Given the description of an element on the screen output the (x, y) to click on. 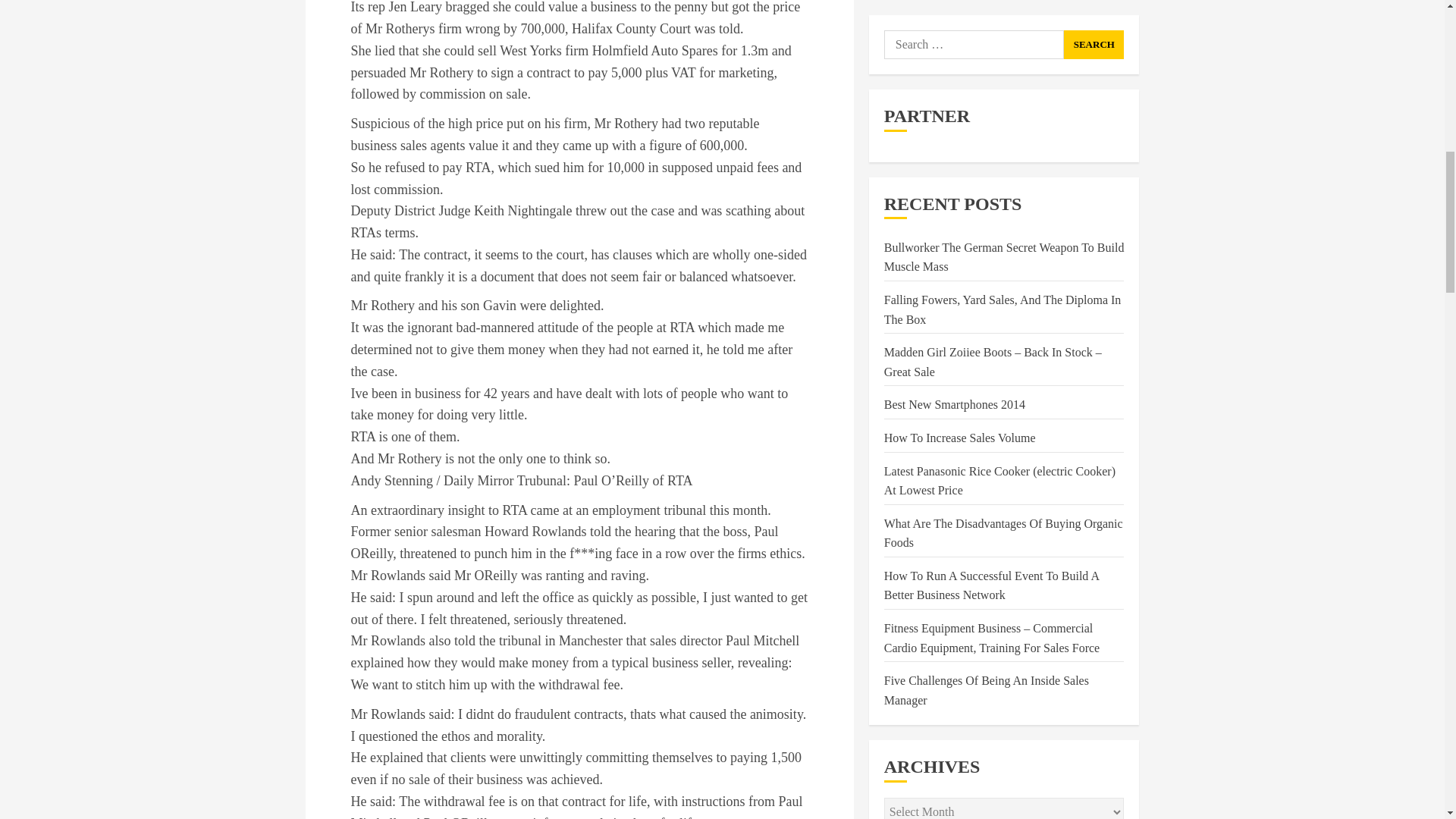
ATV (1025, 525)
Album Slap (921, 493)
Five Challenges Of Being An Inside Sales Manager (986, 101)
Uncategorized (919, 379)
Area Sales Manager (940, 525)
APRA (990, 493)
Sales (896, 345)
Australia (1083, 525)
